Given the description of an element on the screen output the (x, y) to click on. 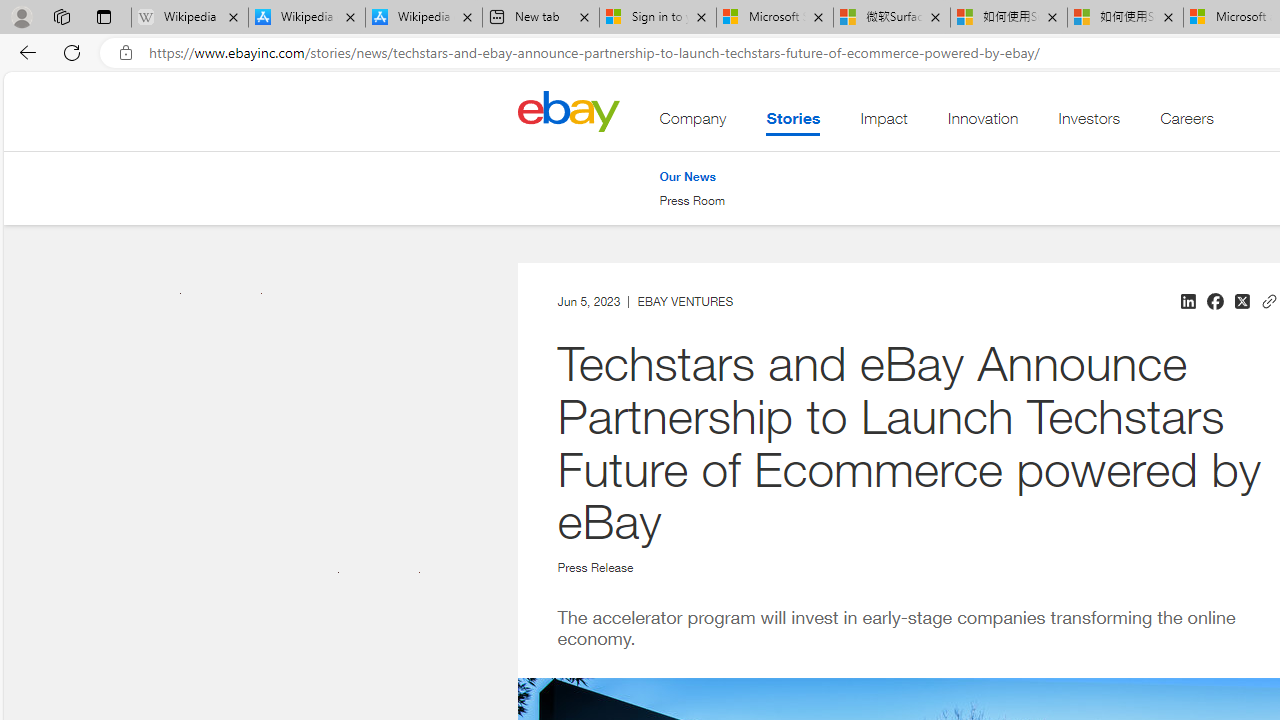
Careers (1186, 123)
Innovation (982, 123)
Share on Facebook (1214, 301)
Impact (883, 123)
Press Room (692, 200)
Class: desktop (568, 110)
